Given the description of an element on the screen output the (x, y) to click on. 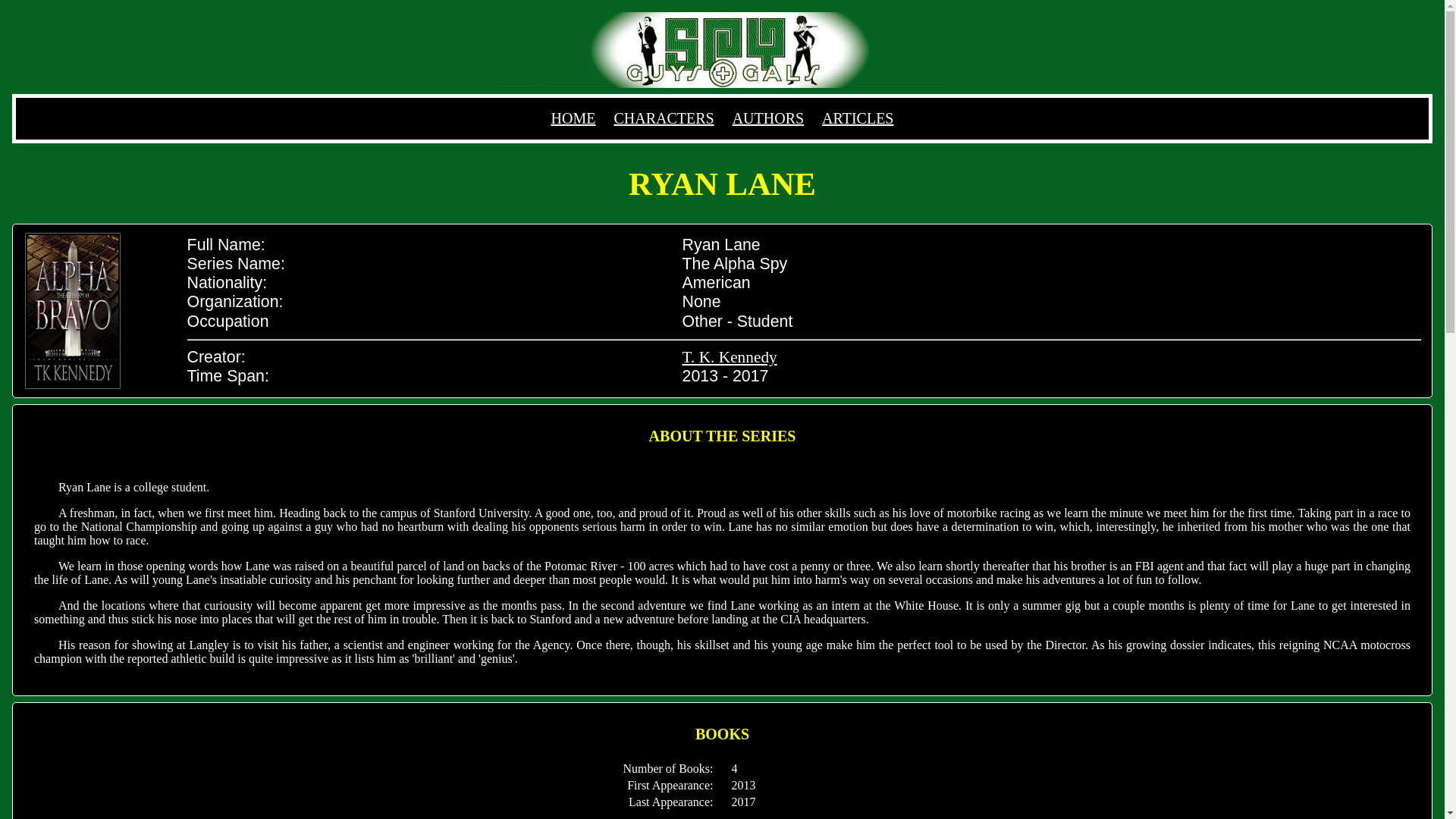
HOME (573, 117)
AUTHORS (767, 117)
ARTICLES (857, 117)
T. K. Kennedy (729, 357)
CHARACTERS (662, 117)
